Given the description of an element on the screen output the (x, y) to click on. 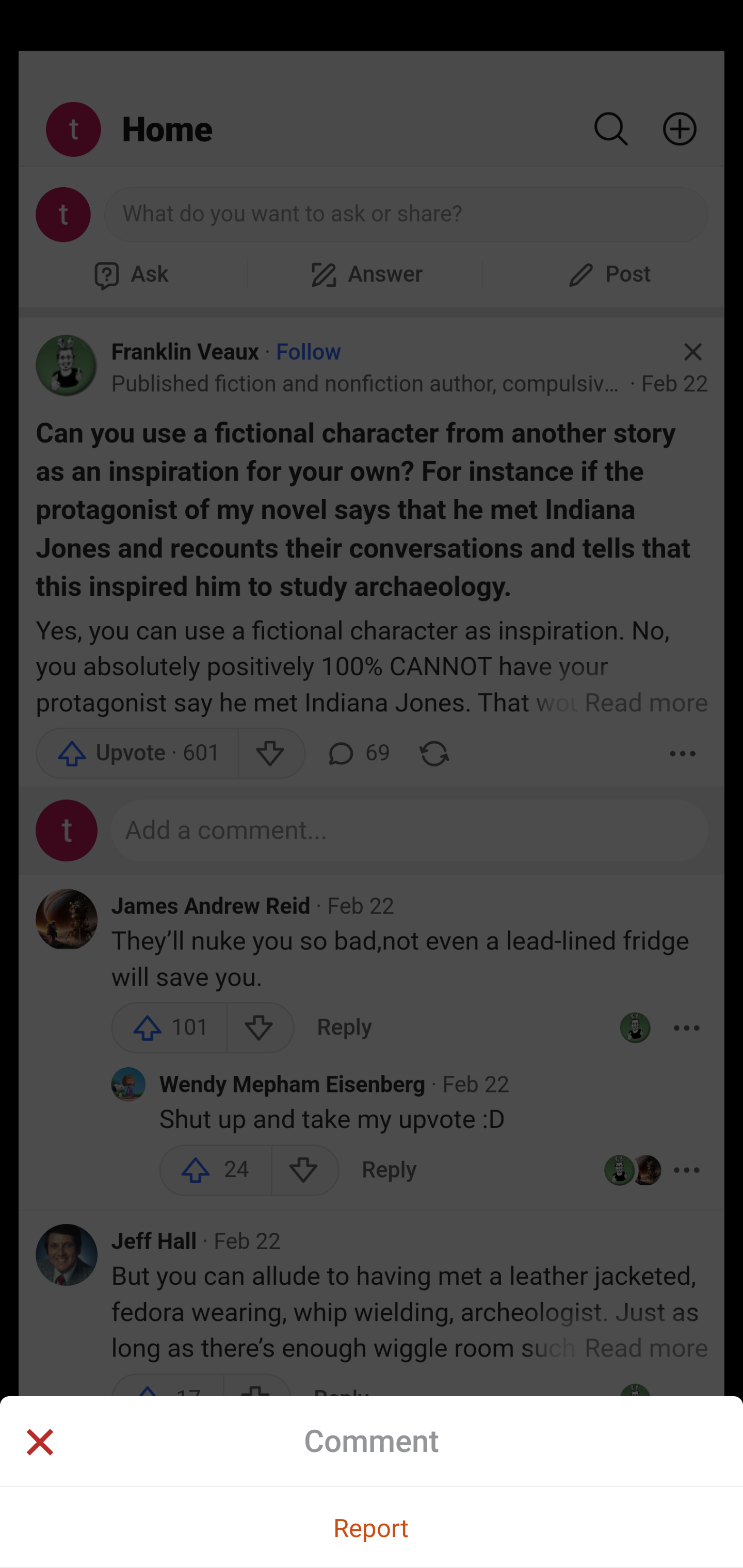
 Comment (371, 1440)
 (39, 1443)
Report (371, 1527)
